Given the description of an element on the screen output the (x, y) to click on. 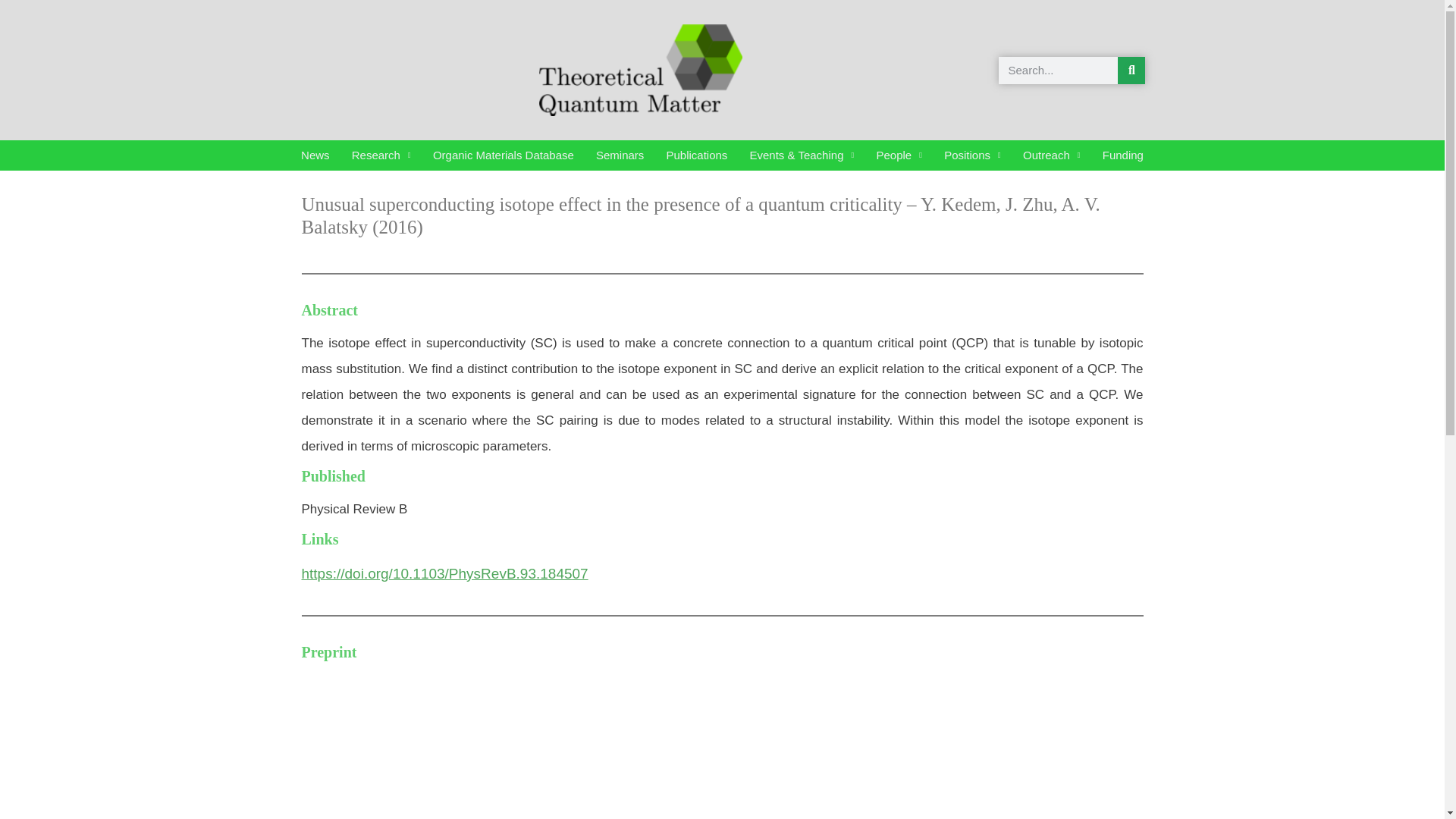
Research (381, 155)
People (898, 155)
Organic Materials Database (503, 155)
Seminars (620, 155)
Positions (972, 155)
Outreach (1050, 155)
News (314, 155)
Funding (1122, 155)
Publications (696, 155)
